Given the description of an element on the screen output the (x, y) to click on. 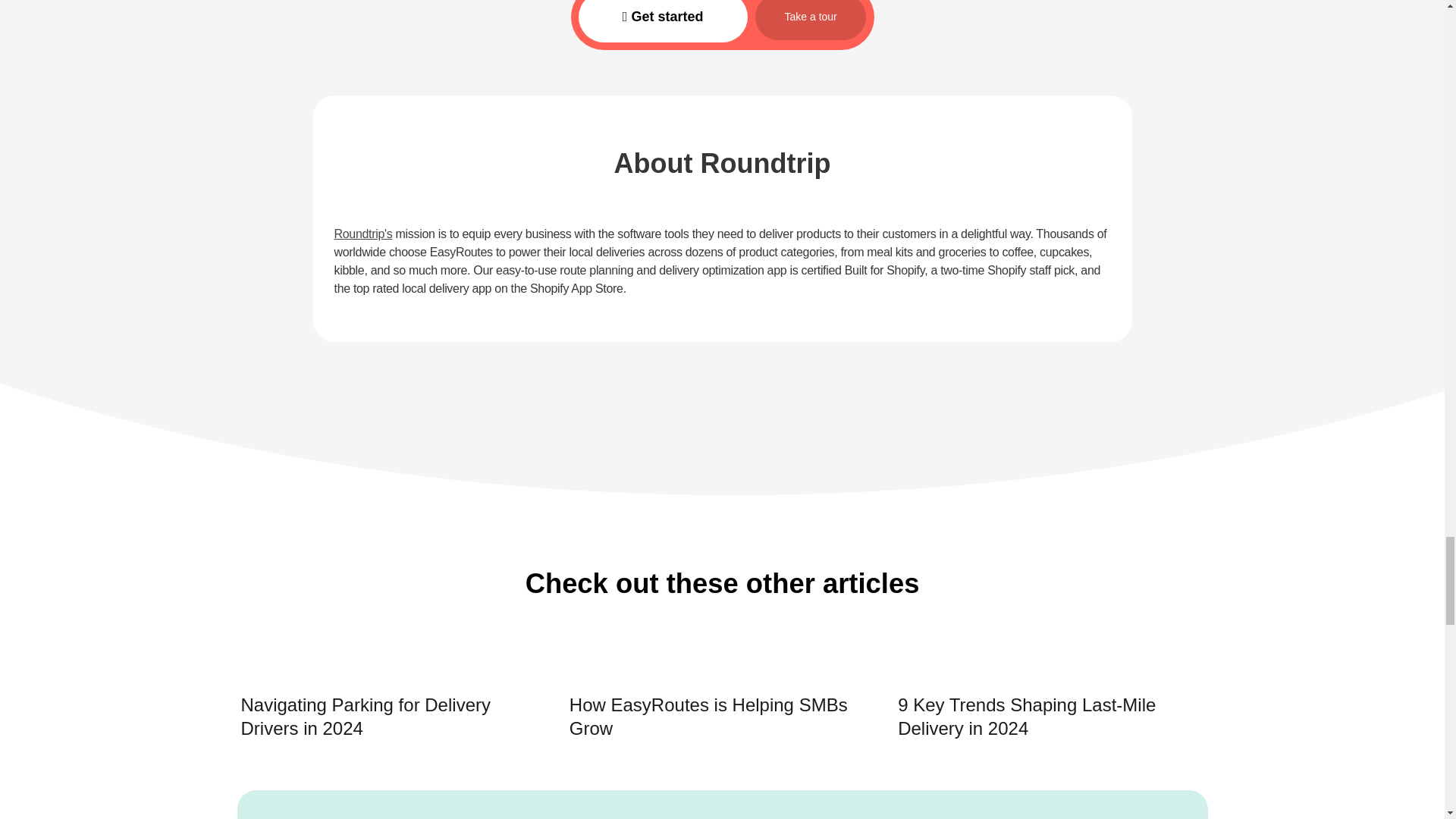
Roundtrip's (362, 233)
Navigating Parking for Delivery Drivers in 2024 (394, 703)
How EasyRoutes is Helping SMBs Grow (722, 703)
9 Key Trends Shaping Last-Mile Delivery in 2024 (1051, 703)
Take a tour (810, 20)
